Given the description of an element on the screen output the (x, y) to click on. 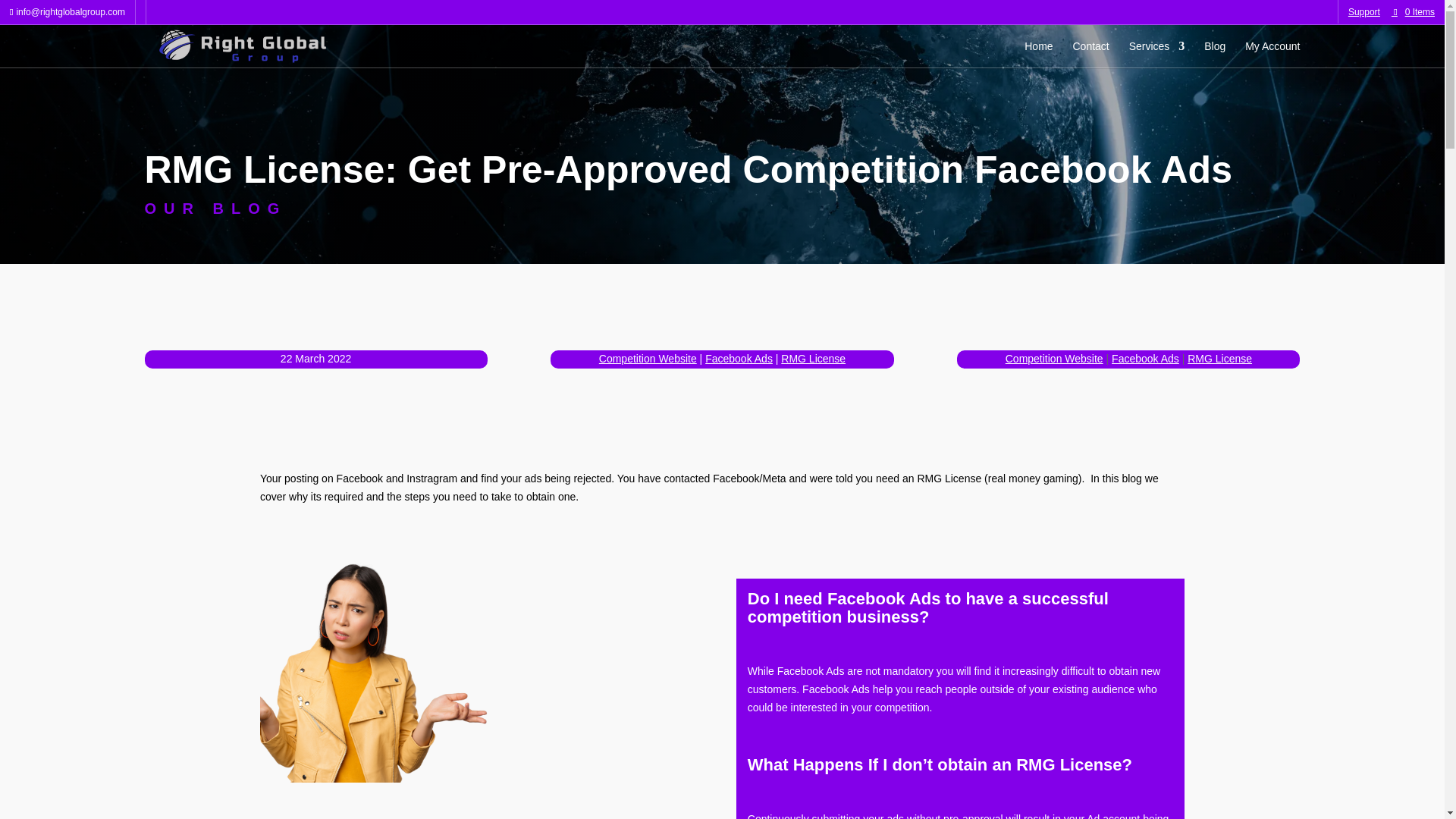
Competition Website (1054, 358)
RMG License (1220, 358)
My Account (1272, 53)
Contact (1089, 53)
Services (1157, 53)
0 Items (1412, 11)
Home (1038, 53)
Support (1364, 15)
Facebook Ads (738, 358)
RMG License (812, 358)
why-are-my-ads-being-rejected (383, 667)
Competition Website (647, 358)
Facebook Ads (1145, 358)
